Given the description of an element on the screen output the (x, y) to click on. 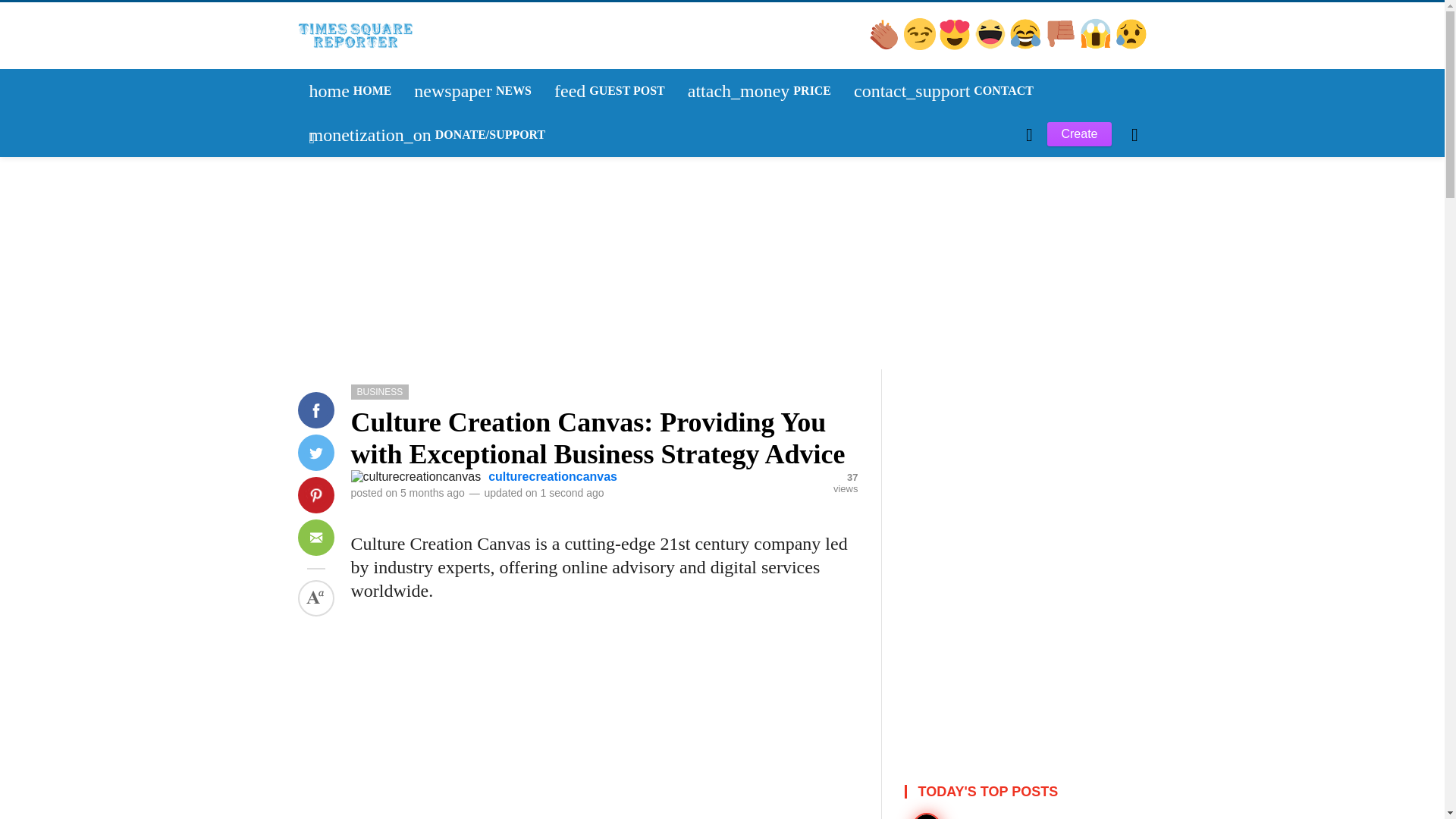
sign up (350, 90)
LOL (331, 292)
EW! (991, 45)
EW! (473, 90)
Log in (610, 90)
FAIL! (333, 293)
OMG! (1131, 45)
